Given the description of an element on the screen output the (x, y) to click on. 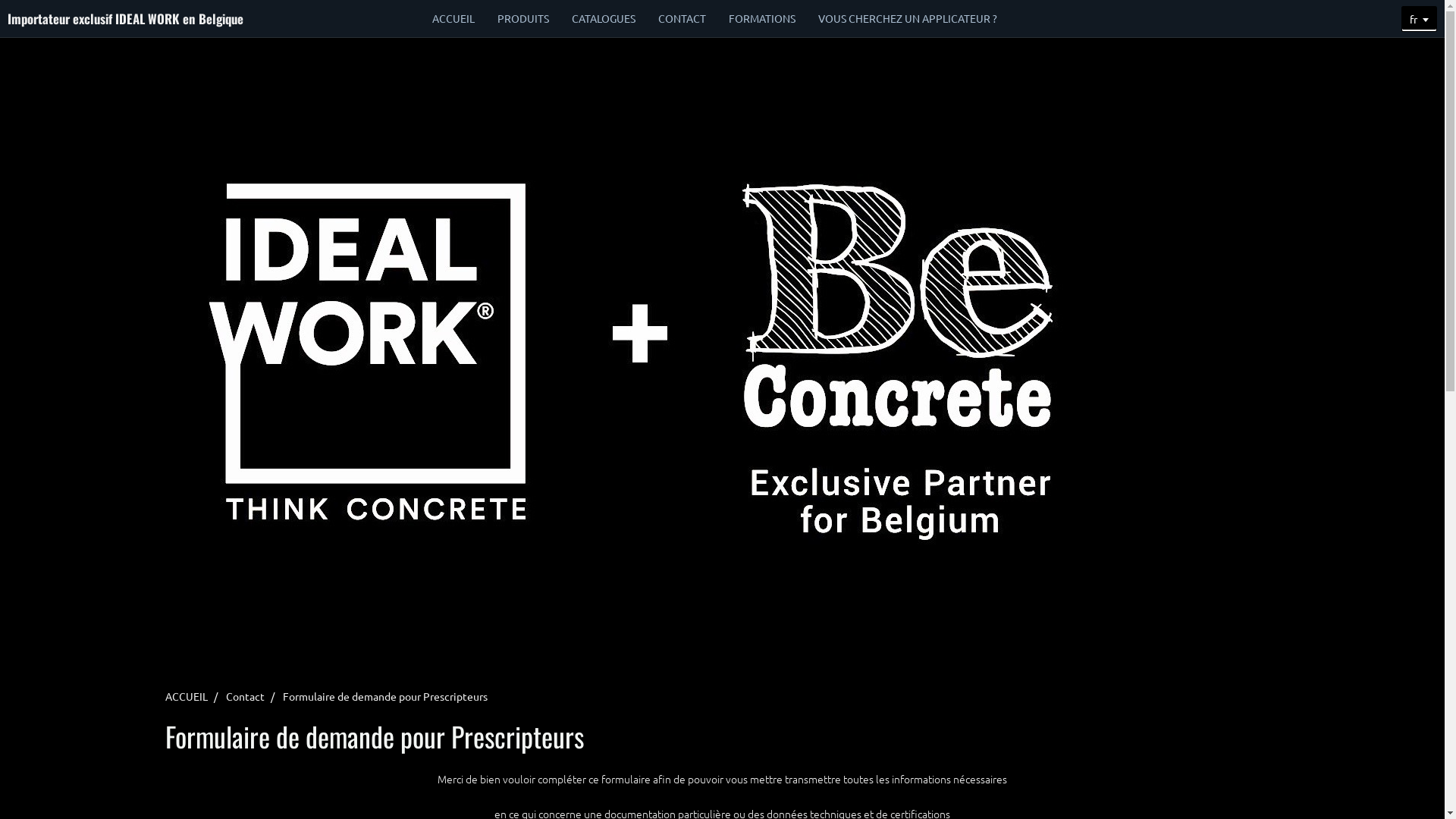
FORMATIONS Element type: text (761, 18)
Importateur exclusif IDEAL WORK en Belgique Element type: text (125, 18)
ACCUEIL Element type: text (453, 18)
PRODUITS Element type: text (523, 18)
ACCUEIL Element type: text (186, 695)
CATALOGUES Element type: text (603, 18)
CONTACT Element type: text (681, 18)
Contact Element type: text (244, 695)
VOUS CHERCHEZ UN APPLICATEUR ? Element type: text (907, 18)
fr Element type: text (1419, 18)
